Given the description of an element on the screen output the (x, y) to click on. 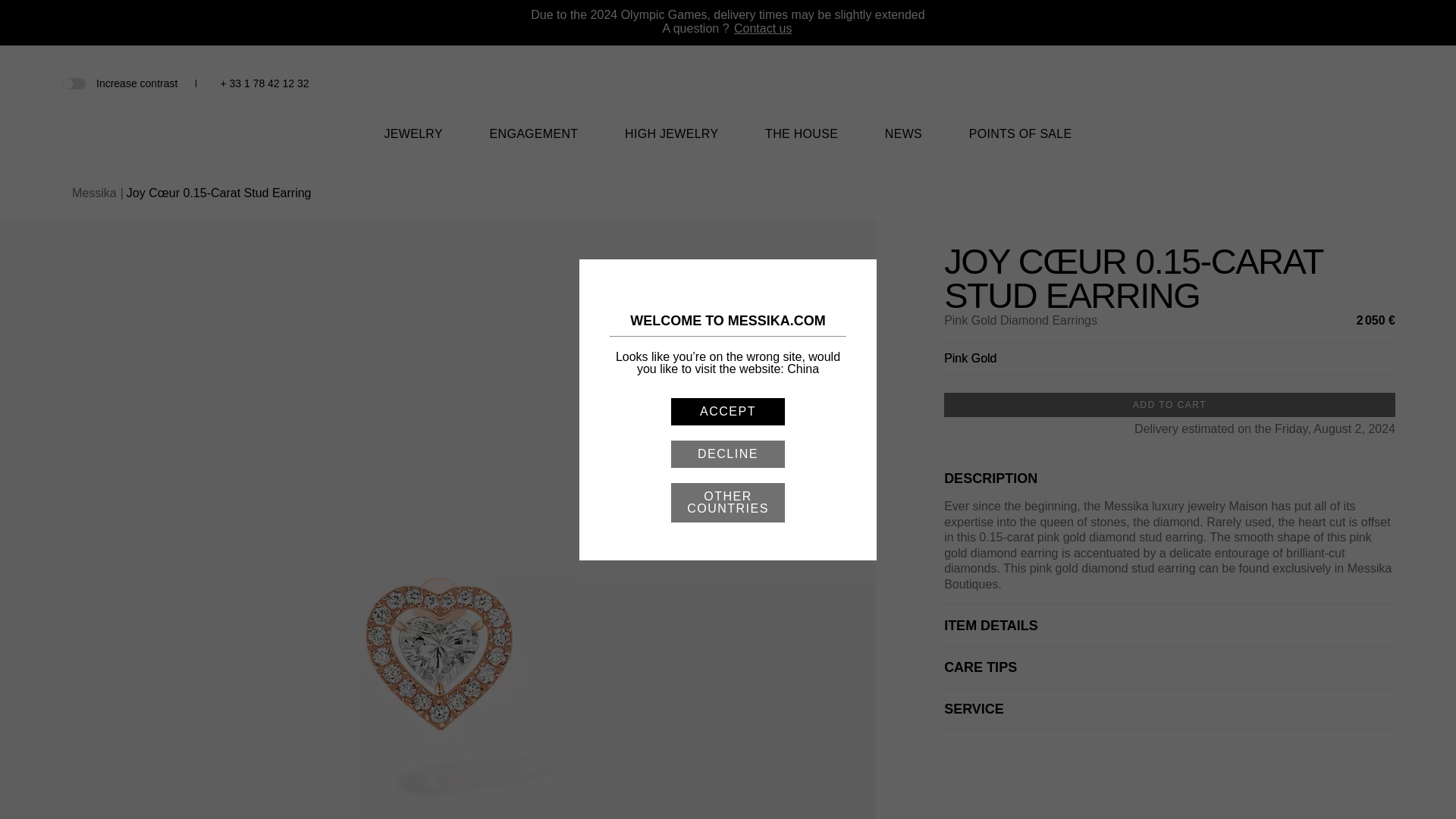
on (73, 82)
Messika (727, 92)
JEWELRY (413, 142)
Wishlist (1335, 84)
Opens a widget where you can find more information (1398, 792)
Contact us (762, 28)
Messika (727, 103)
Wishlist (1335, 83)
Shopping Cart (1360, 84)
Search (1310, 84)
